Given the description of an element on the screen output the (x, y) to click on. 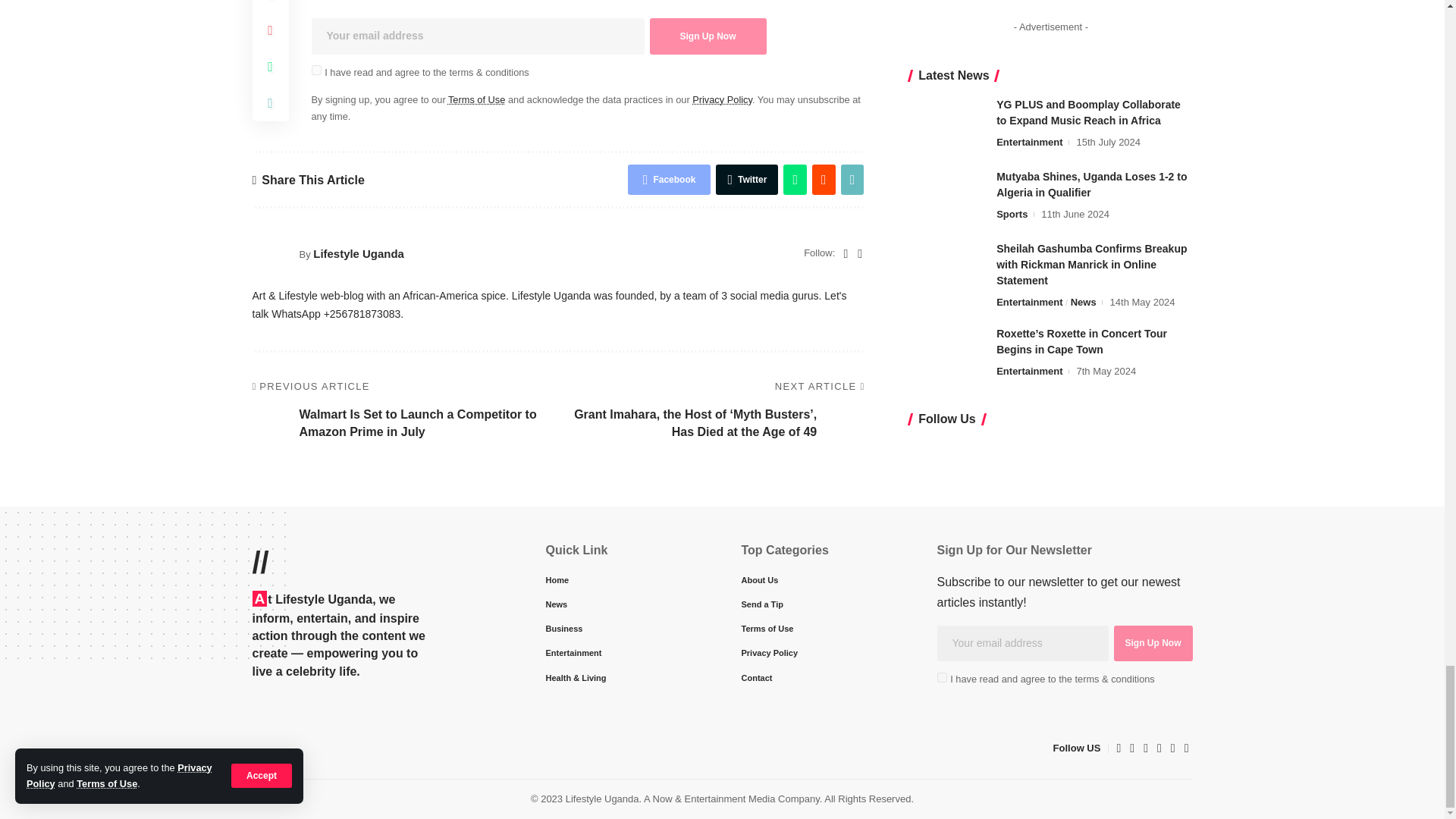
Sign Up Now (1152, 643)
Sign Up Now (707, 36)
1 (315, 70)
1 (942, 677)
